Given the description of an element on the screen output the (x, y) to click on. 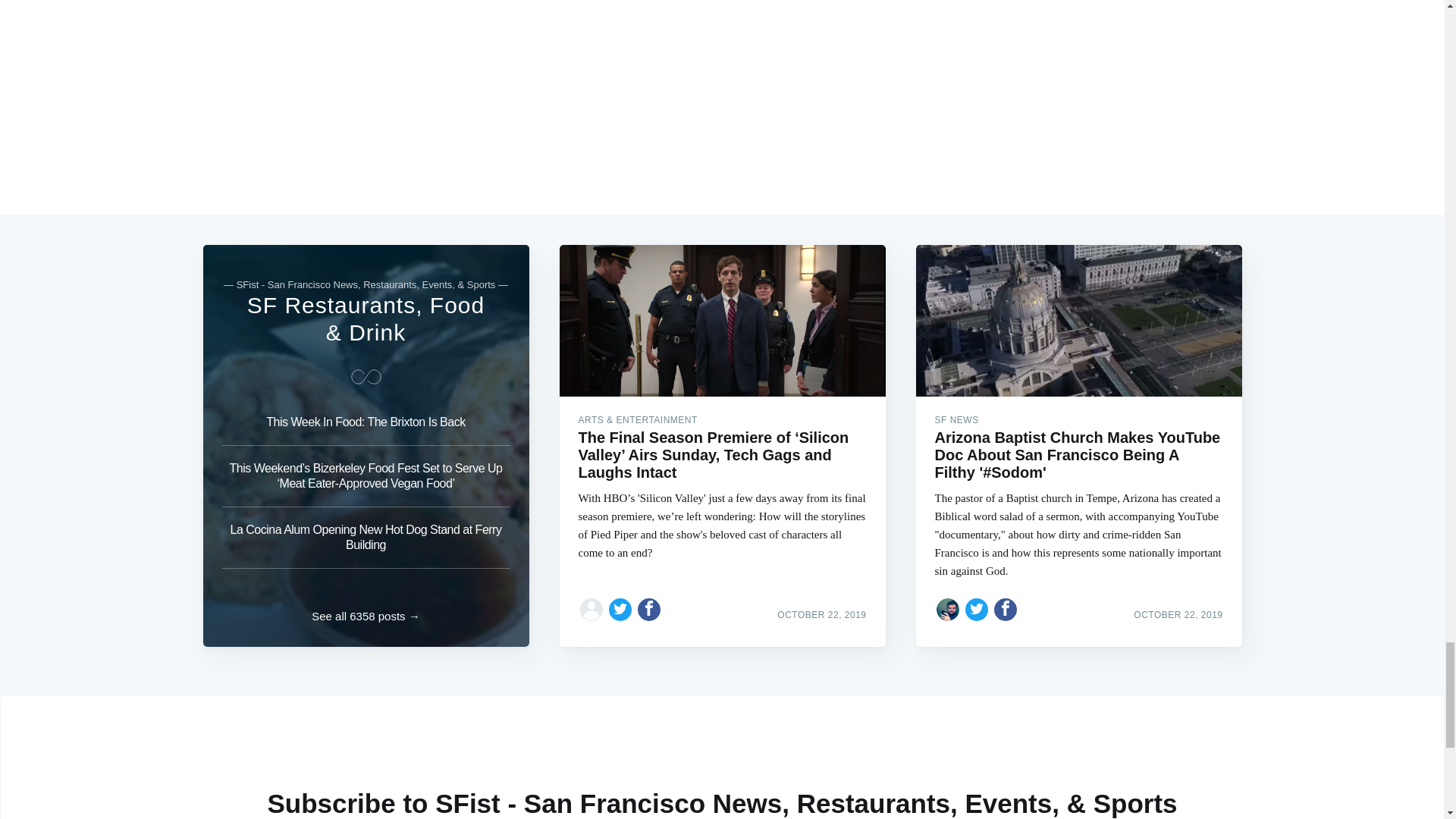
Share on Facebook (1004, 609)
Share on Facebook (649, 609)
Share on Twitter (976, 609)
Share on Twitter (620, 609)
